Given the description of an element on the screen output the (x, y) to click on. 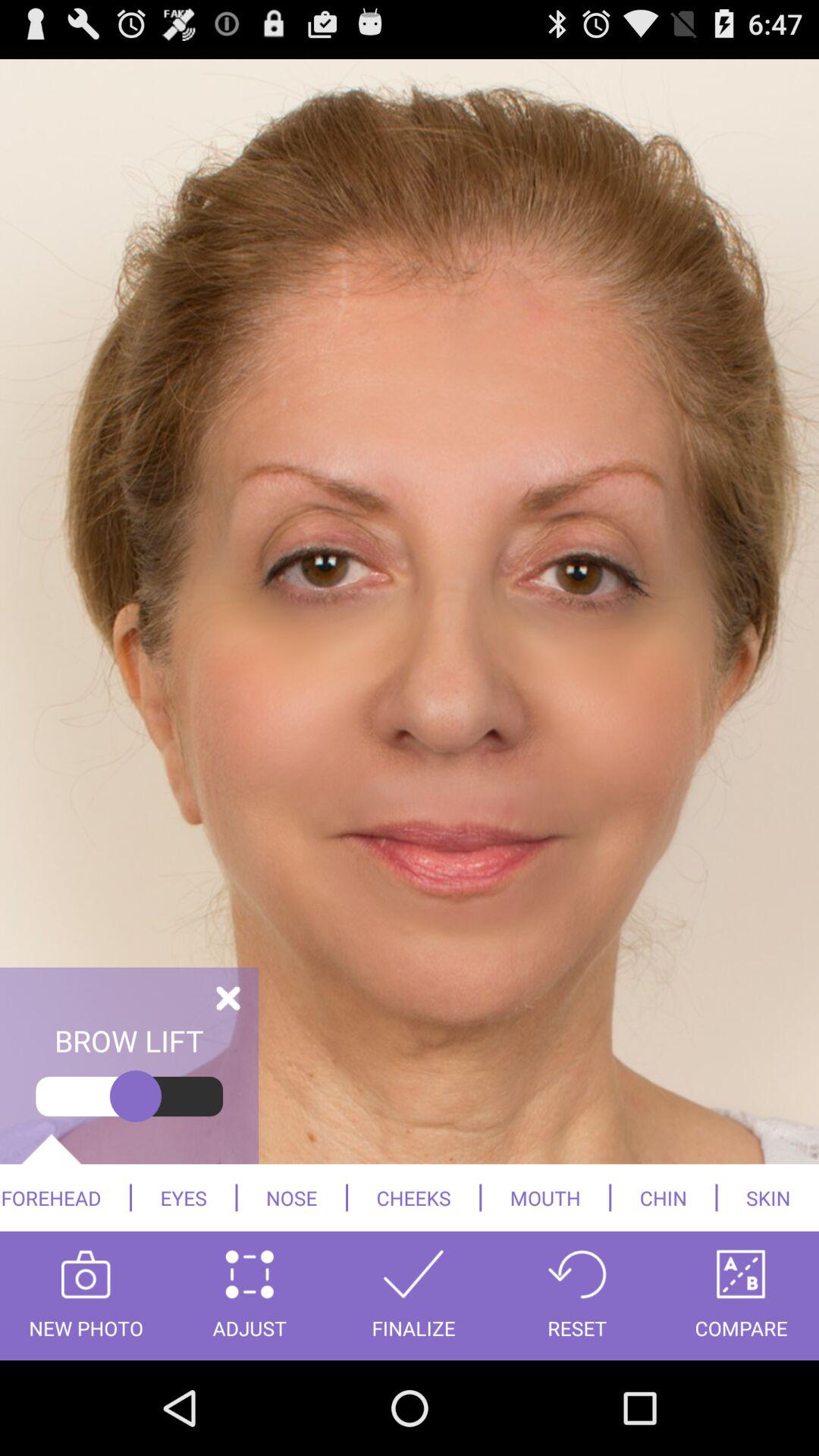
turn on chin icon (663, 1197)
